Given the description of an element on the screen output the (x, y) to click on. 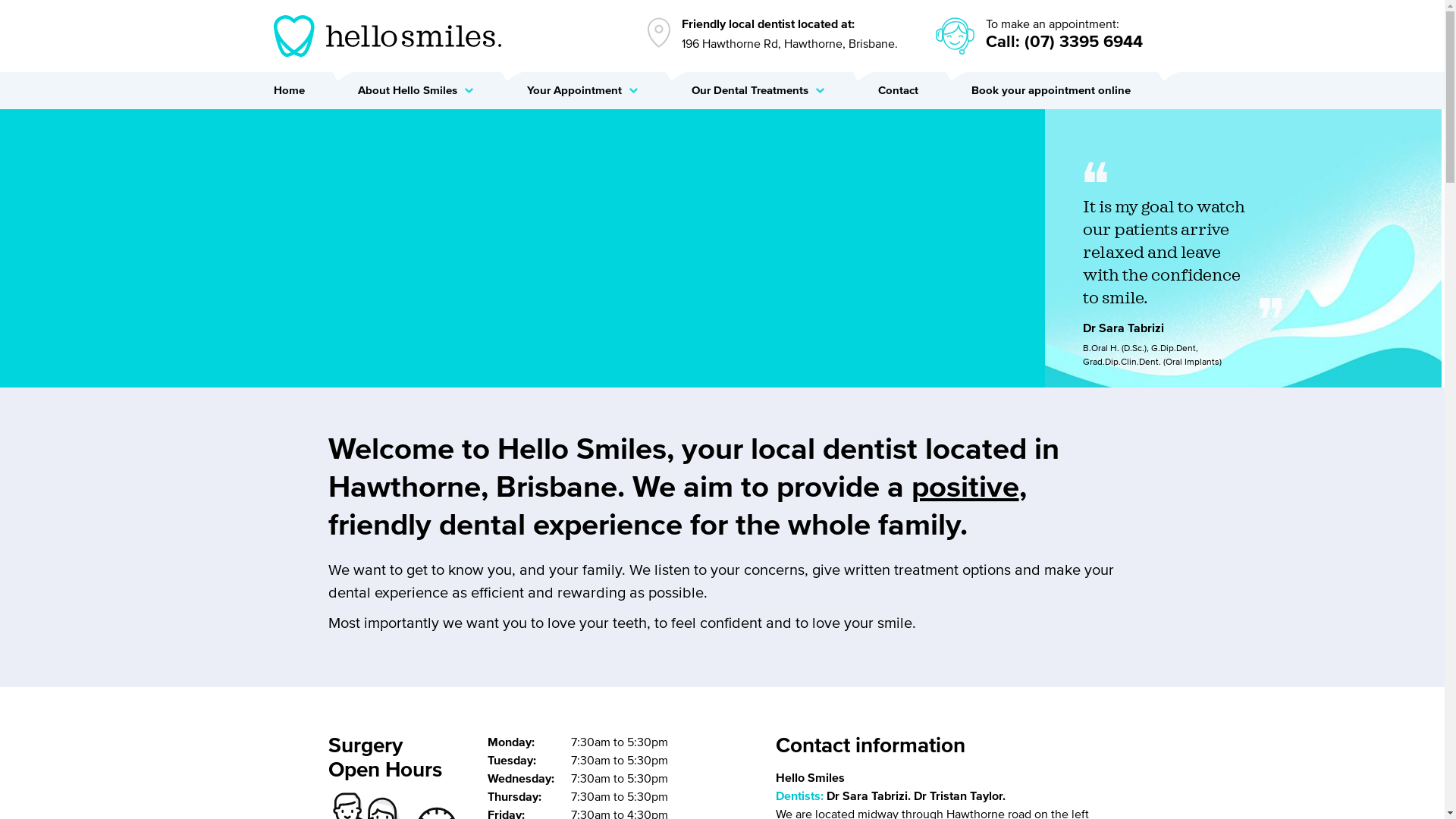
Your Appointment Element type: text (602, 90)
Contact Element type: text (918, 90)
Book your appointment online Element type: text (1070, 90)
Make a Dental Appointment Element type: hover (954, 35)
Our Dental Treatments Element type: text (778, 90)
Local dentist located in Hawthorne, Brisbane. Element type: hover (658, 32)
About Hello Smiles Element type: text (435, 90)
Hello Smiles Dentist Element type: hover (386, 35)
Home Element type: text (308, 90)
